Given the description of an element on the screen output the (x, y) to click on. 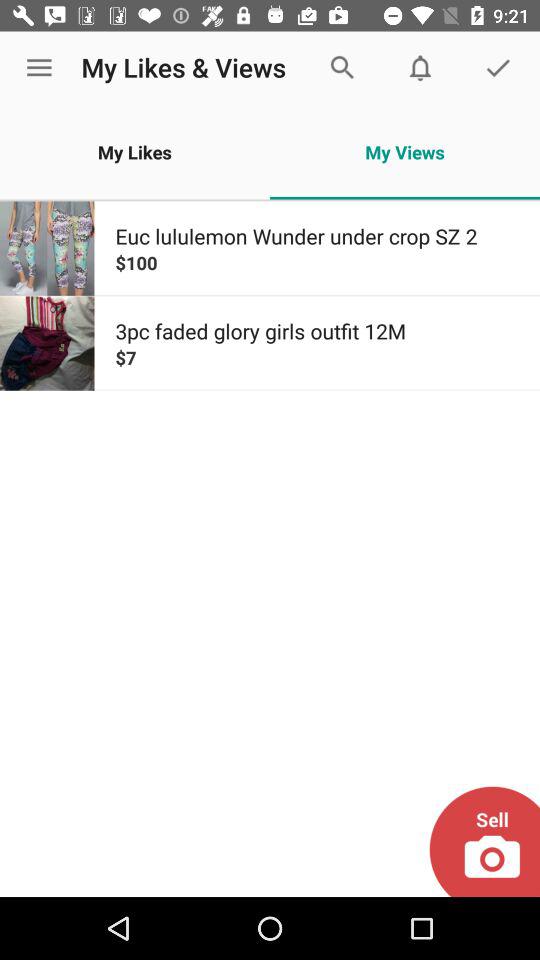
sell (484, 841)
